Given the description of an element on the screen output the (x, y) to click on. 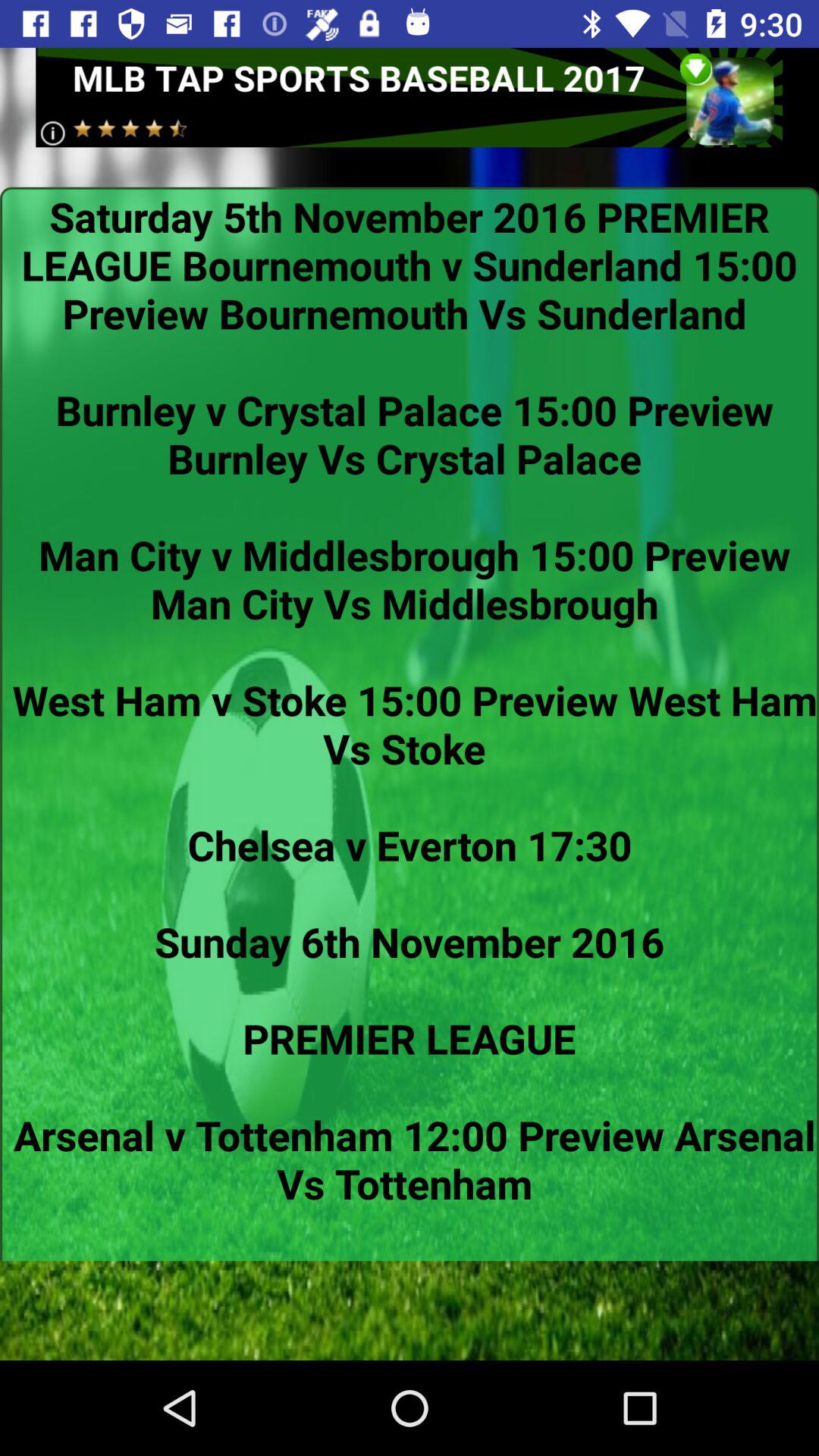
new advertisement open box (408, 97)
